Given the description of an element on the screen output the (x, y) to click on. 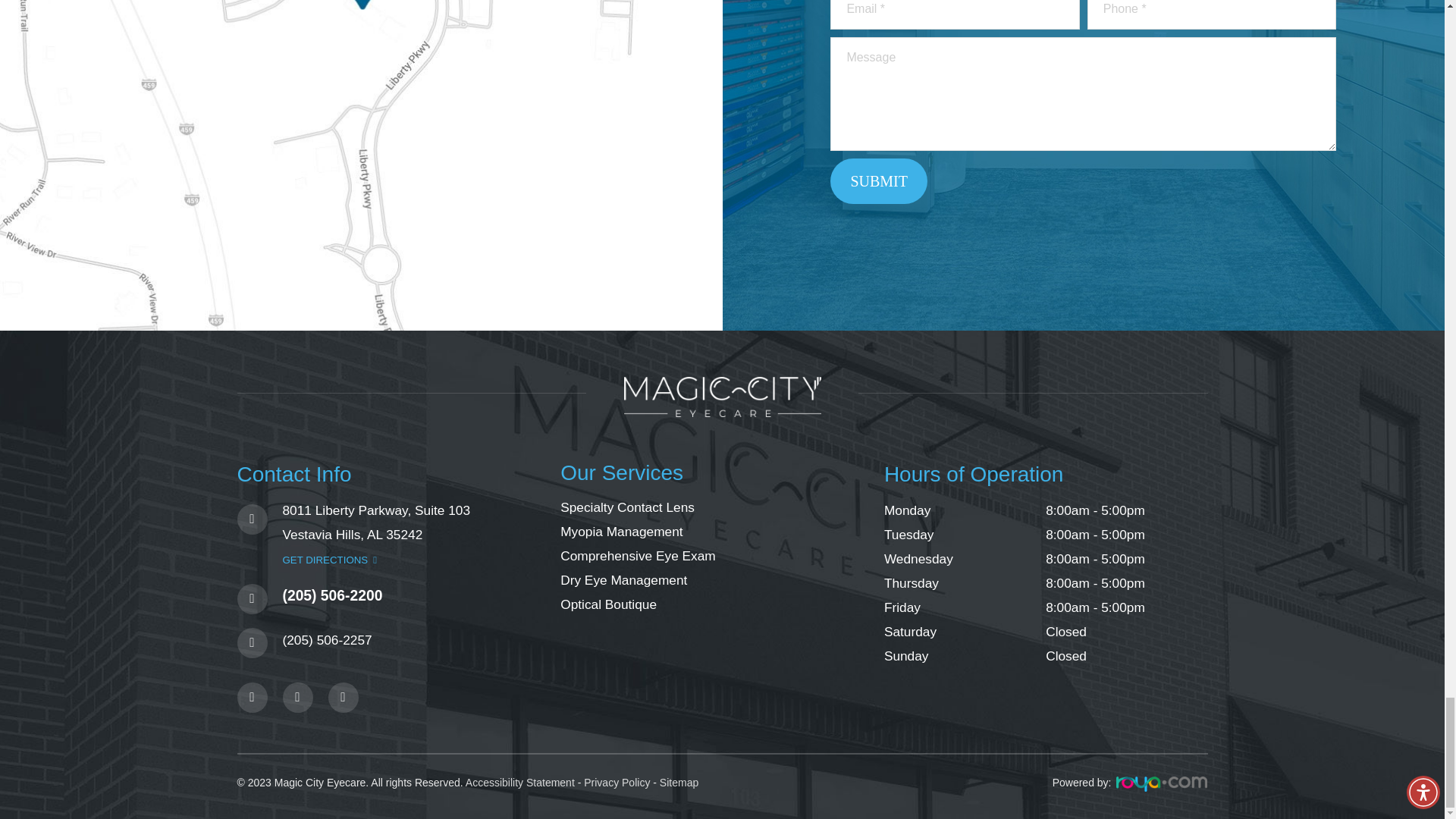
Roya (1161, 783)
